Given the description of an element on the screen output the (x, y) to click on. 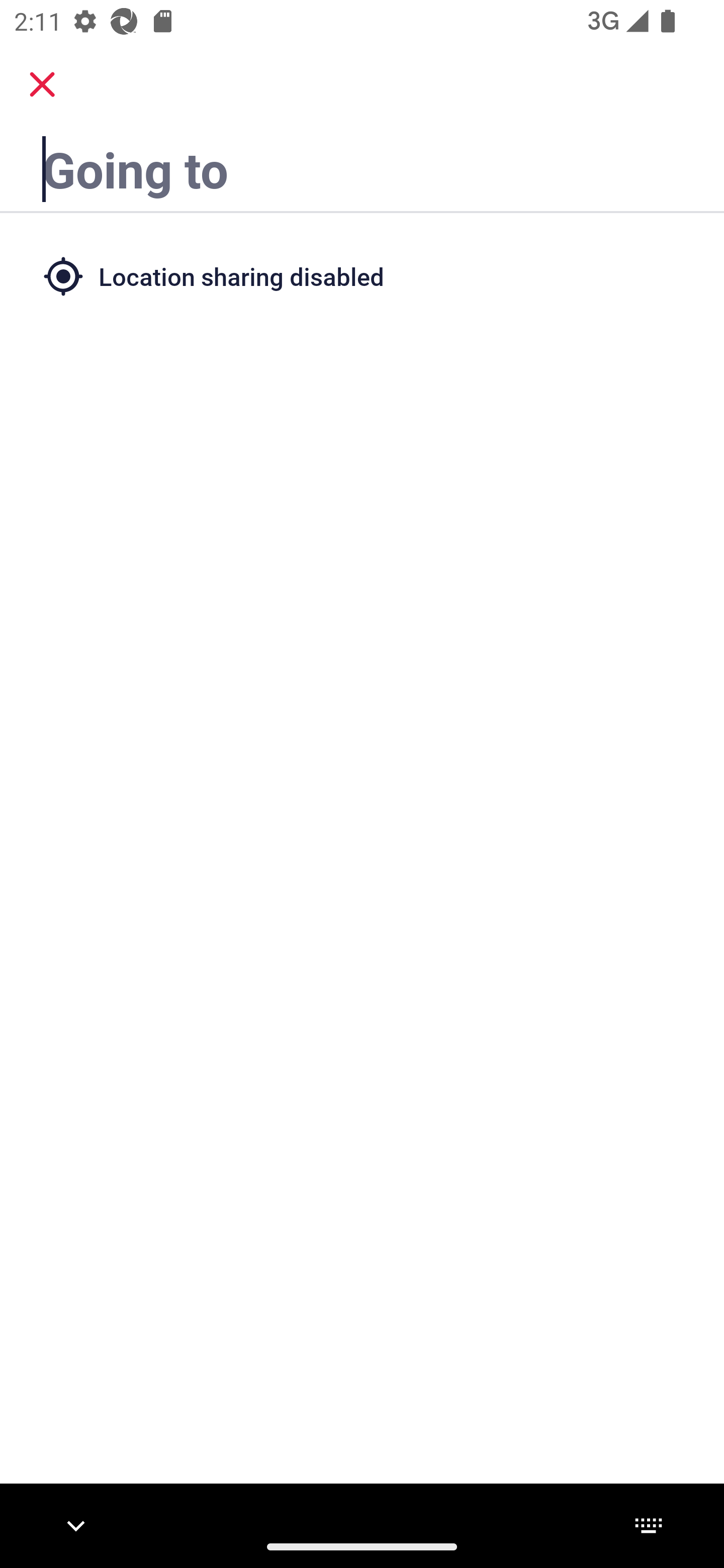
close. (42, 84)
Location sharing disabled (362, 275)
